Given the description of an element on the screen output the (x, y) to click on. 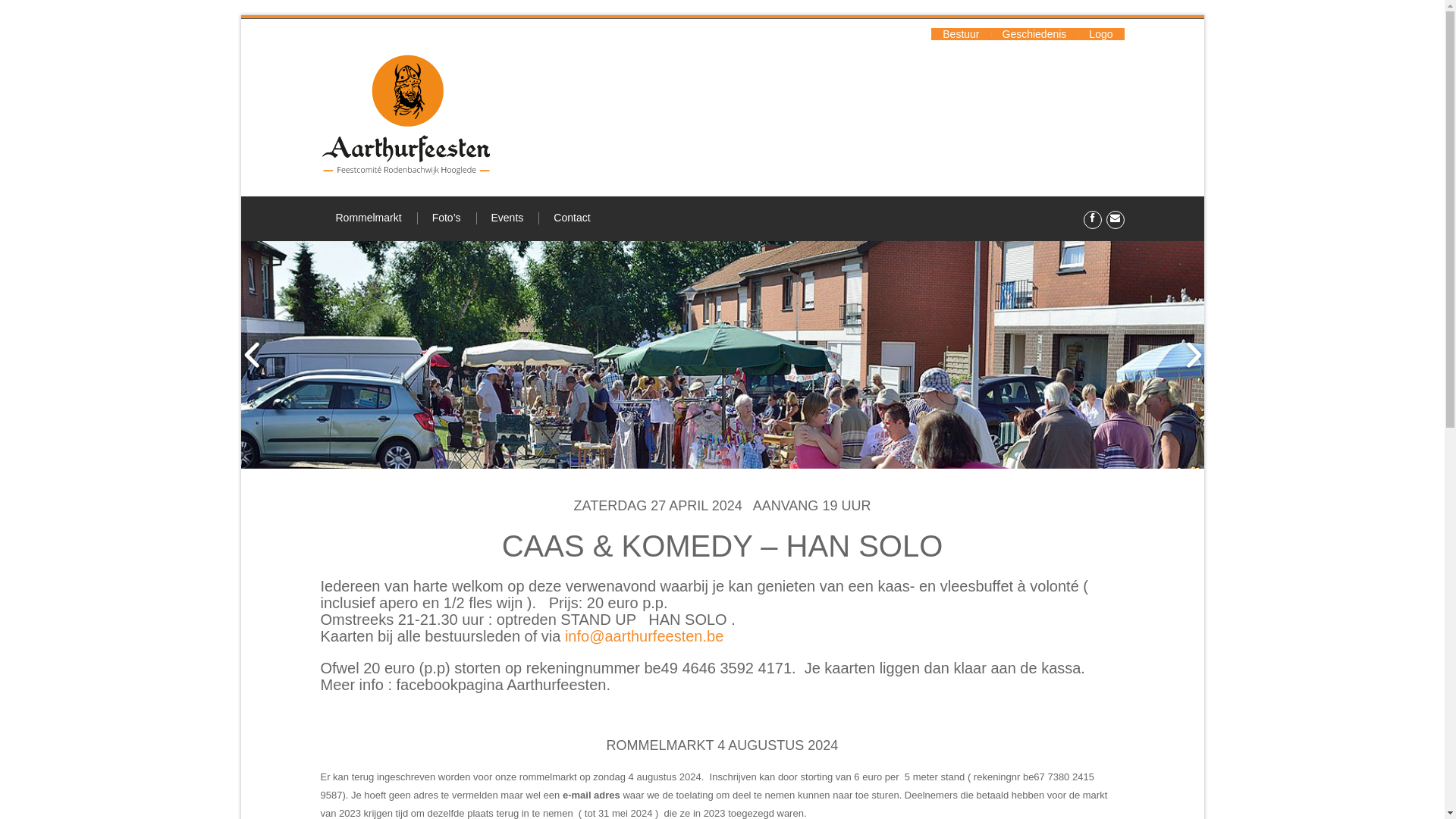
Bestuur Element type: text (960, 34)
Logo Element type: text (1100, 34)
Events Element type: text (507, 217)
Geschiedenis Element type: text (1034, 34)
Rommelmarkt Element type: text (368, 217)
info@aarthurfeesten.be Element type: text (643, 635)
Contact Element type: text (571, 217)
